Given the description of an element on the screen output the (x, y) to click on. 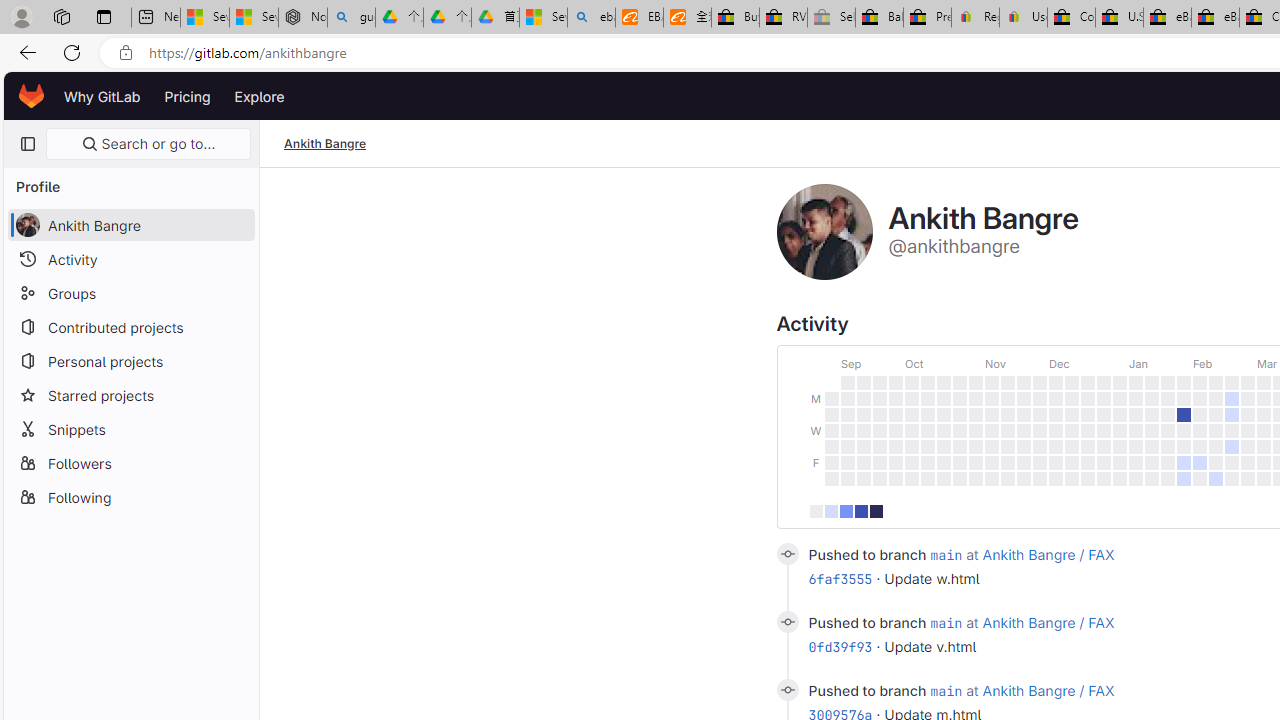
Groups (130, 292)
Class: s14 (786, 689)
guge yunpan - Search (351, 17)
ebay - Search (591, 17)
Followers (130, 462)
Activity (130, 259)
